Given the description of an element on the screen output the (x, y) to click on. 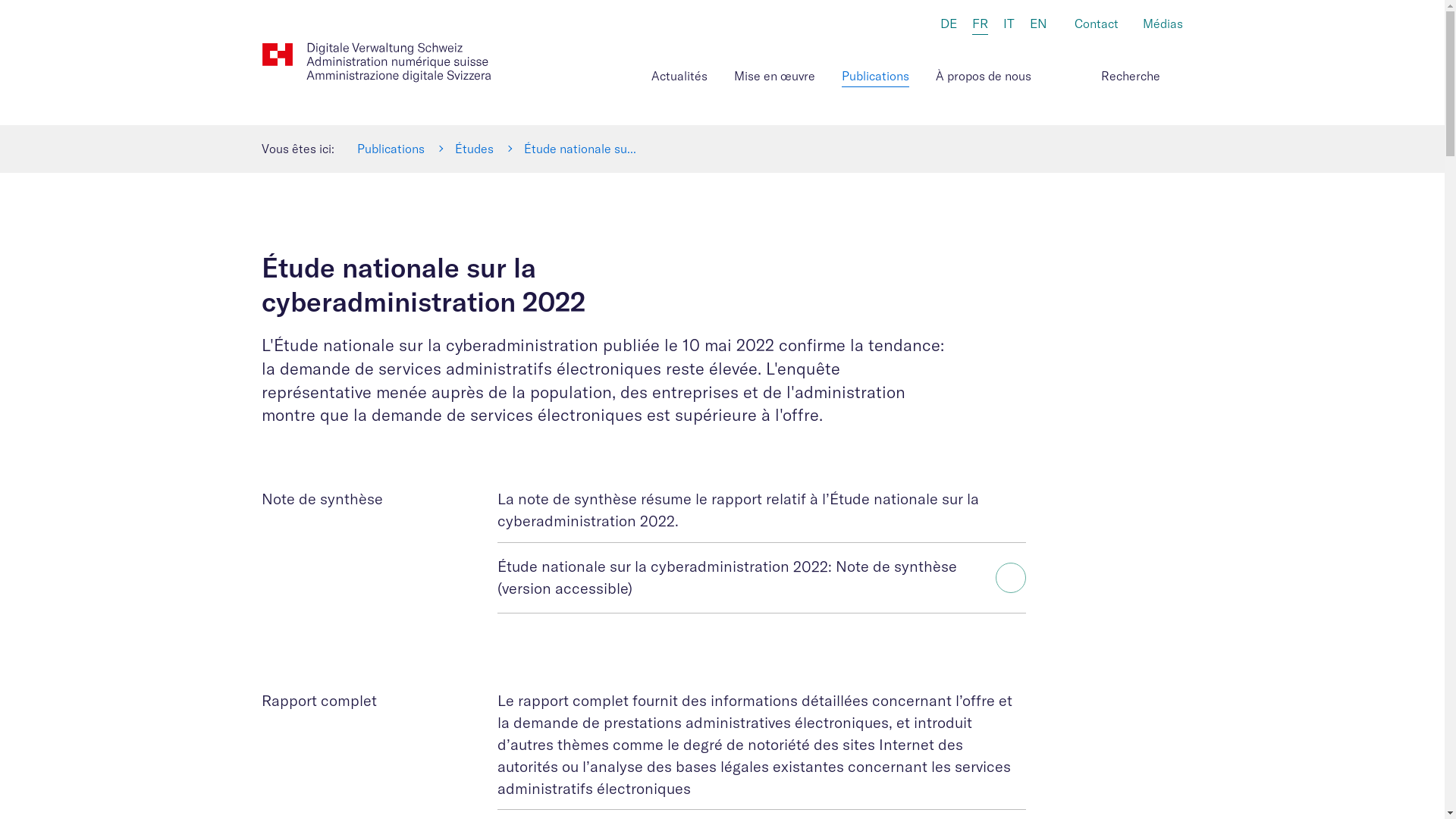
IT Element type: text (1007, 24)
Publications Element type: text (389, 148)
FR Element type: text (980, 24)
DE Element type: text (948, 24)
Recherche Element type: text (1174, 72)
Contact Element type: text (1096, 24)
EN Element type: text (1038, 24)
Website Logo Element type: text (376, 62)
